Given the description of an element on the screen output the (x, y) to click on. 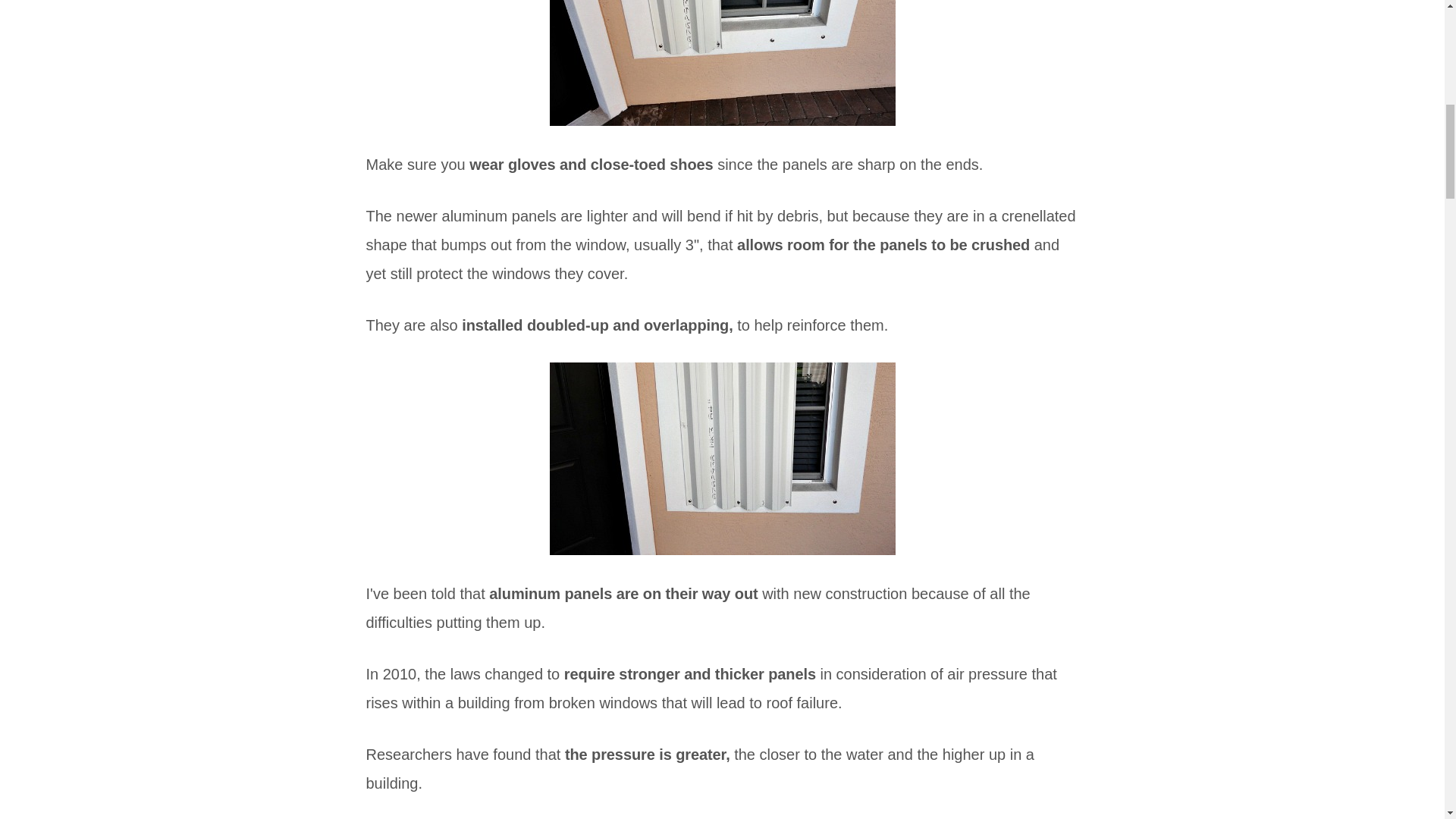
hurricane panel (721, 63)
hurricane panels (721, 458)
